Given the description of an element on the screen output the (x, y) to click on. 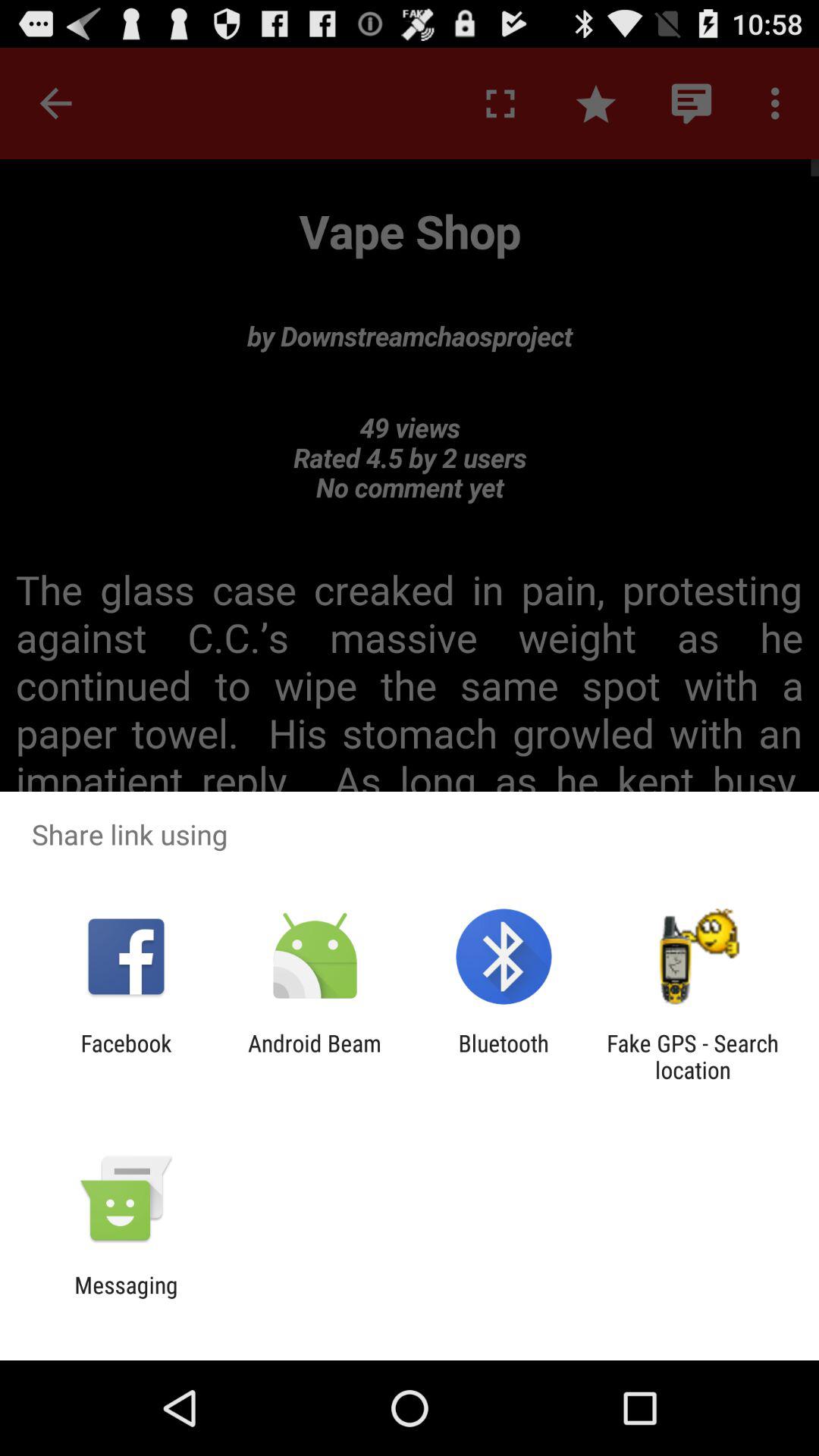
select the app next to android beam (503, 1056)
